Given the description of an element on the screen output the (x, y) to click on. 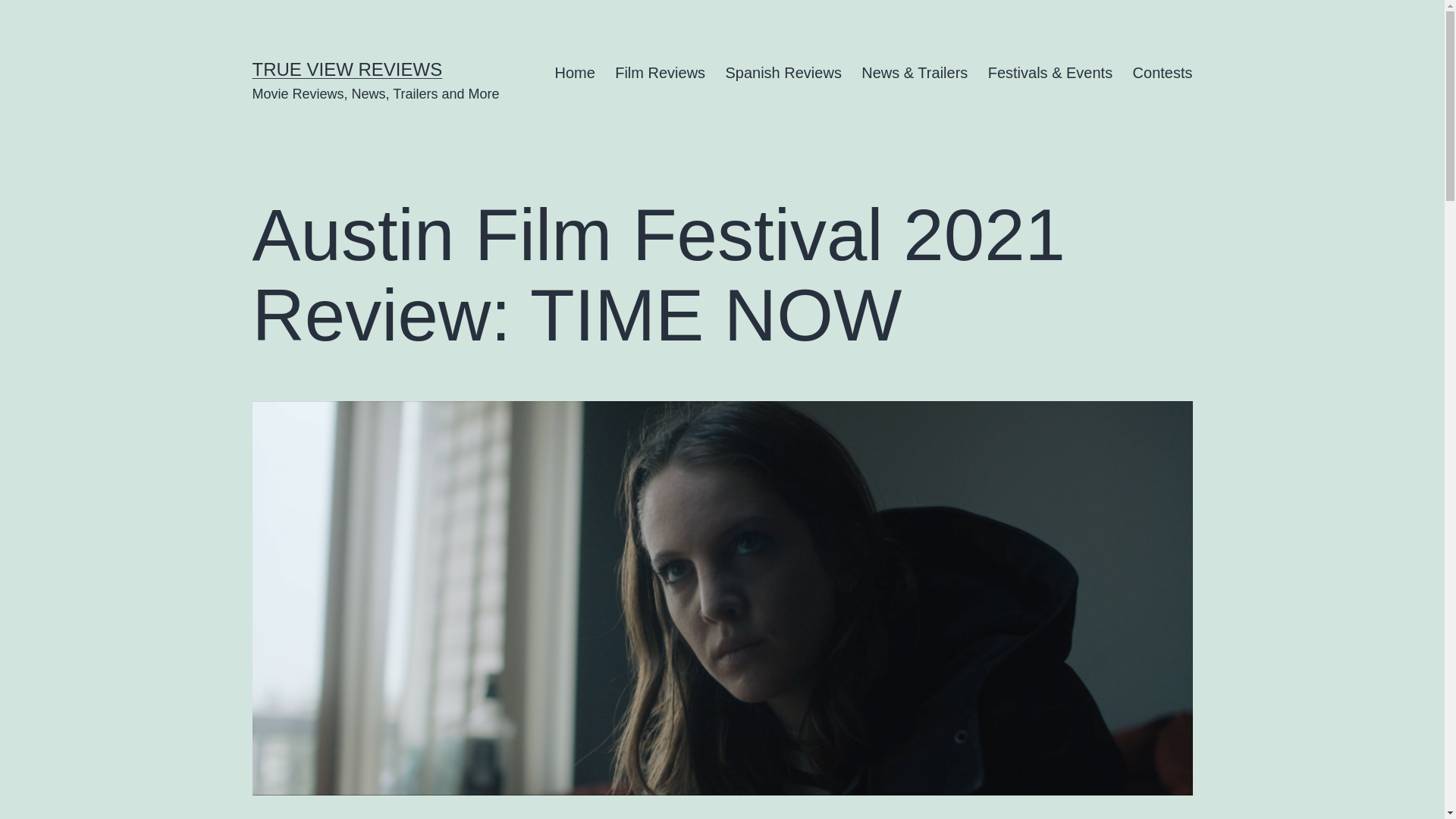
TRUE VIEW REVIEWS (346, 68)
Spanish Reviews (782, 72)
Film Reviews (659, 72)
Contests (1162, 72)
Home (574, 72)
